Given the description of an element on the screen output the (x, y) to click on. 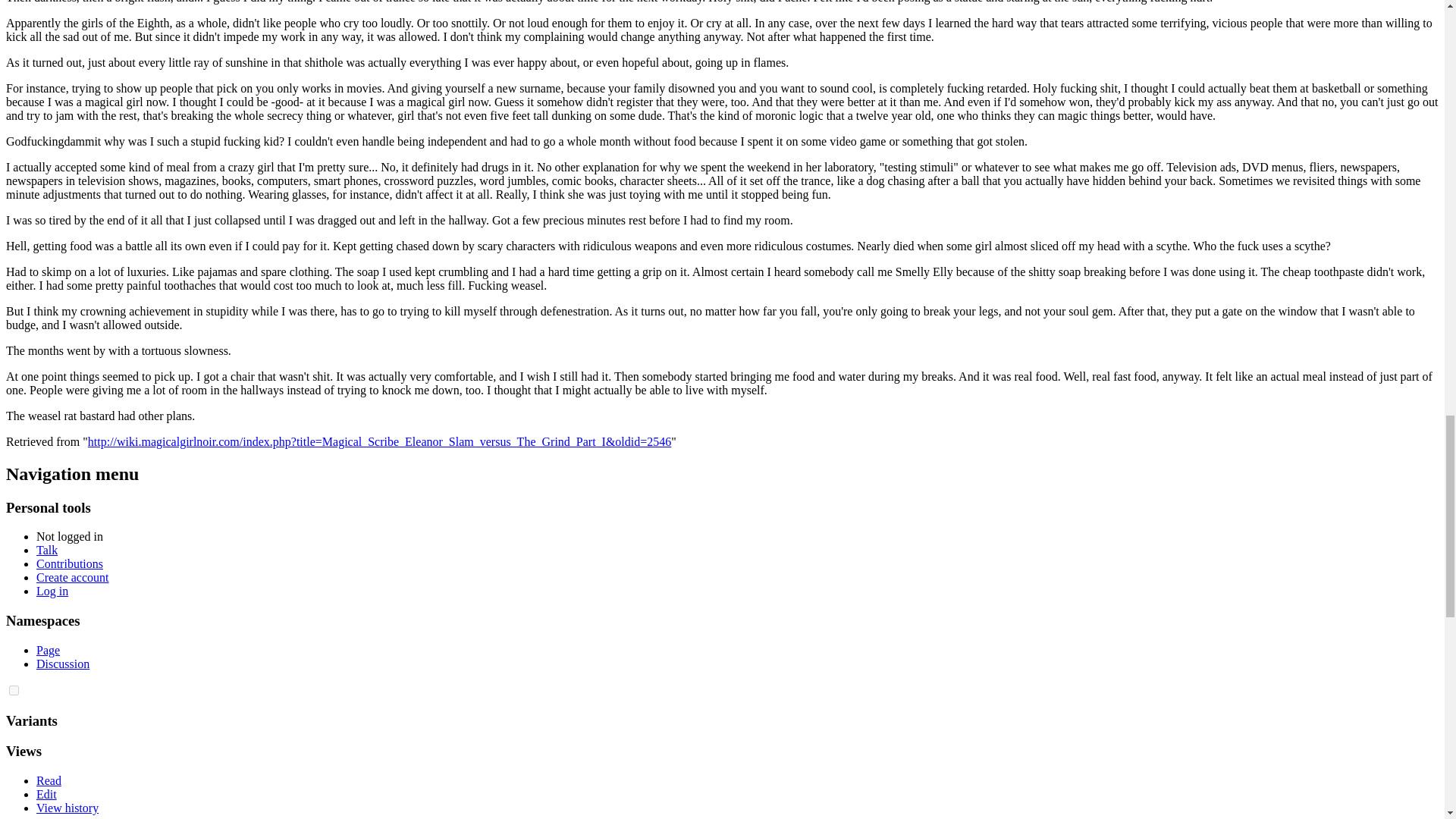
on (13, 690)
Page (47, 649)
Contributions (69, 563)
Read (48, 780)
Talk (47, 549)
Log in (52, 590)
View history (67, 807)
Discussion (62, 663)
Create account (72, 576)
